Given the description of an element on the screen output the (x, y) to click on. 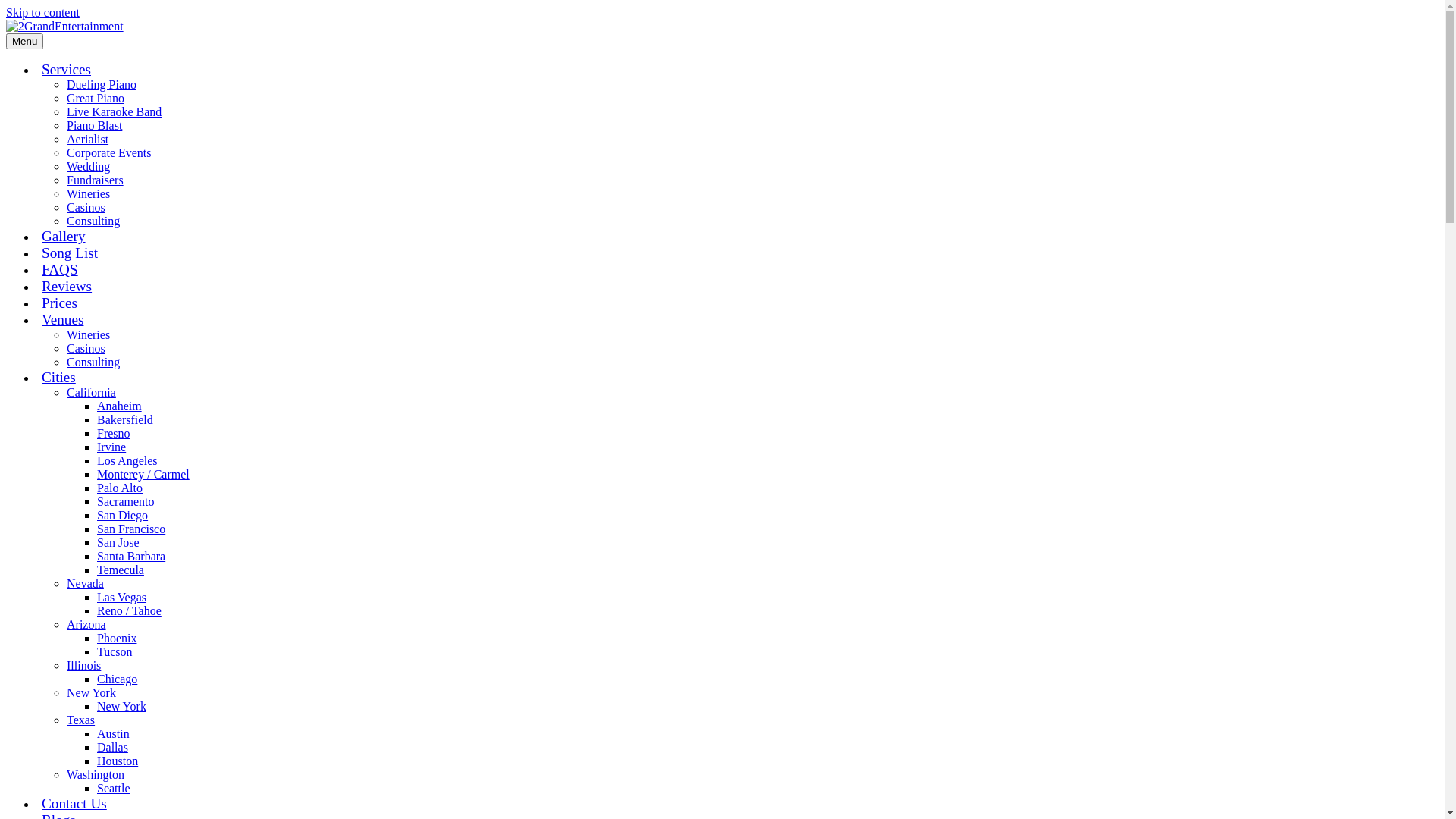
Prices Element type: text (59, 302)
Cities Element type: text (58, 377)
Bakersfield Element type: text (125, 419)
Wineries Element type: text (87, 334)
Monterey / Carmel Element type: text (143, 473)
Venues Element type: text (62, 319)
Fresno Element type: text (113, 432)
Washington Element type: text (95, 774)
Contact Us Element type: text (74, 803)
Seattle Element type: text (113, 787)
Casinos Element type: text (85, 206)
Nevada Element type: text (84, 583)
California Element type: text (91, 391)
Wineries Element type: text (87, 193)
New York Element type: text (91, 692)
Houston Element type: text (117, 760)
Skip to content Element type: text (42, 12)
Dueling Piano Element type: text (101, 84)
FAQS Element type: text (59, 269)
Consulting Element type: text (92, 220)
Illinois Element type: text (83, 664)
Consulting Element type: text (92, 361)
Corporate Events Element type: text (108, 152)
Texas Element type: text (80, 719)
Austin Element type: text (113, 733)
San Francisco Element type: text (131, 528)
Great Piano Element type: text (95, 97)
Piano Blast Element type: text (94, 125)
Temecula Element type: text (120, 569)
Chicago Element type: text (117, 678)
Live Karaoke Band Element type: text (113, 111)
Santa Barbara Element type: text (131, 555)
Gallery Element type: text (63, 235)
Tucson Element type: text (114, 651)
San Diego Element type: text (122, 514)
Dallas Element type: text (112, 746)
Phoenix Element type: text (116, 637)
Irvine Element type: text (111, 446)
Los Angeles Element type: text (127, 460)
Wedding Element type: text (87, 166)
Palo Alto Element type: text (119, 487)
Arizona Element type: text (86, 624)
Aerialist Element type: text (87, 138)
Reno / Tahoe Element type: text (129, 610)
Services Element type: text (66, 69)
Anaheim Element type: text (119, 405)
Fundraisers Element type: text (94, 179)
Casinos Element type: text (85, 348)
Sacramento Element type: text (125, 501)
Las Vegas Element type: text (121, 596)
New York Element type: text (121, 705)
Song List Element type: text (69, 252)
Menu Element type: text (24, 41)
San Jose Element type: text (118, 542)
Reviews Element type: text (66, 286)
